Given the description of an element on the screen output the (x, y) to click on. 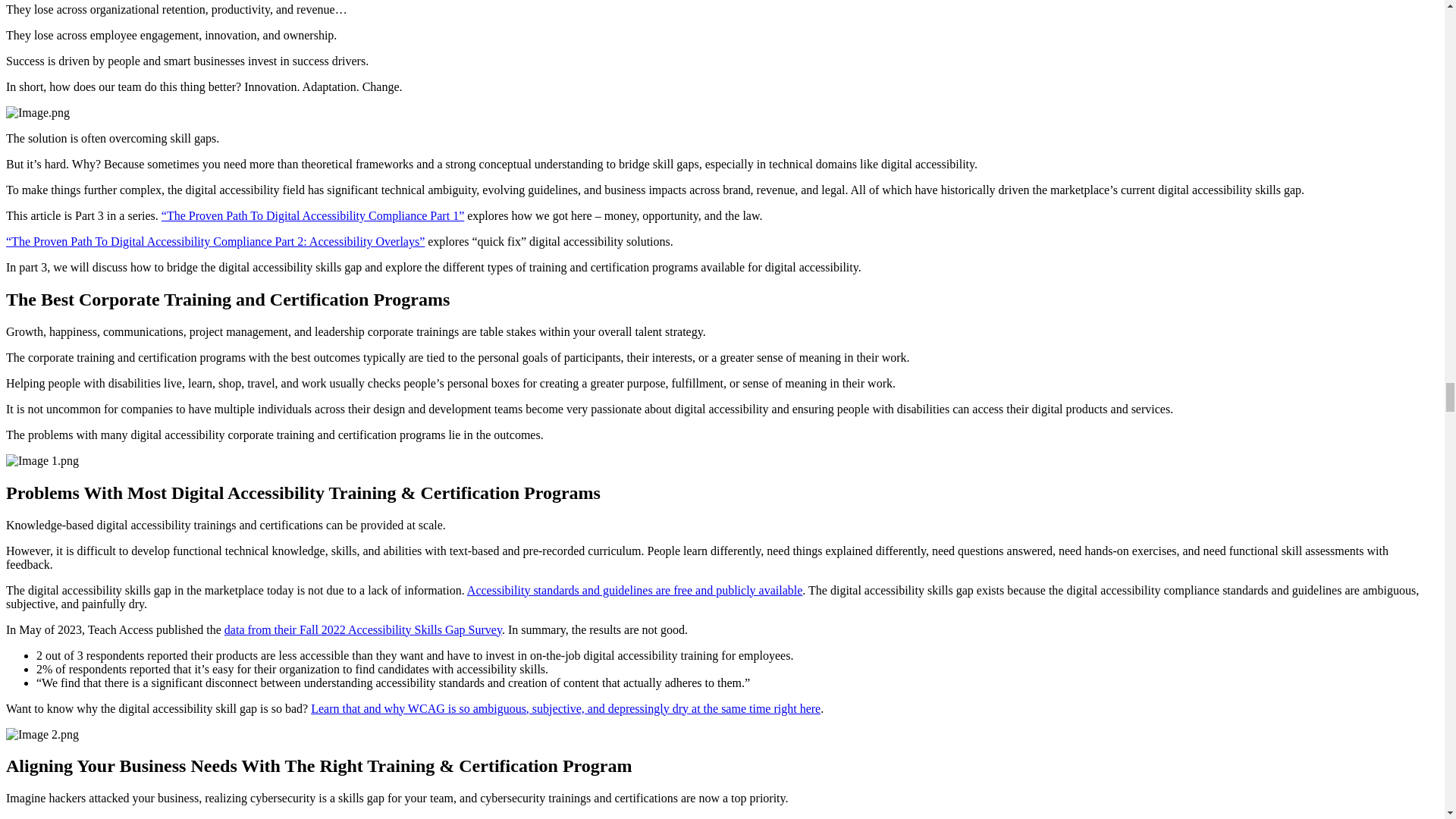
data from their Fall 2022 Accessibility Skills Gap Survey (363, 629)
